Given the description of an element on the screen output the (x, y) to click on. 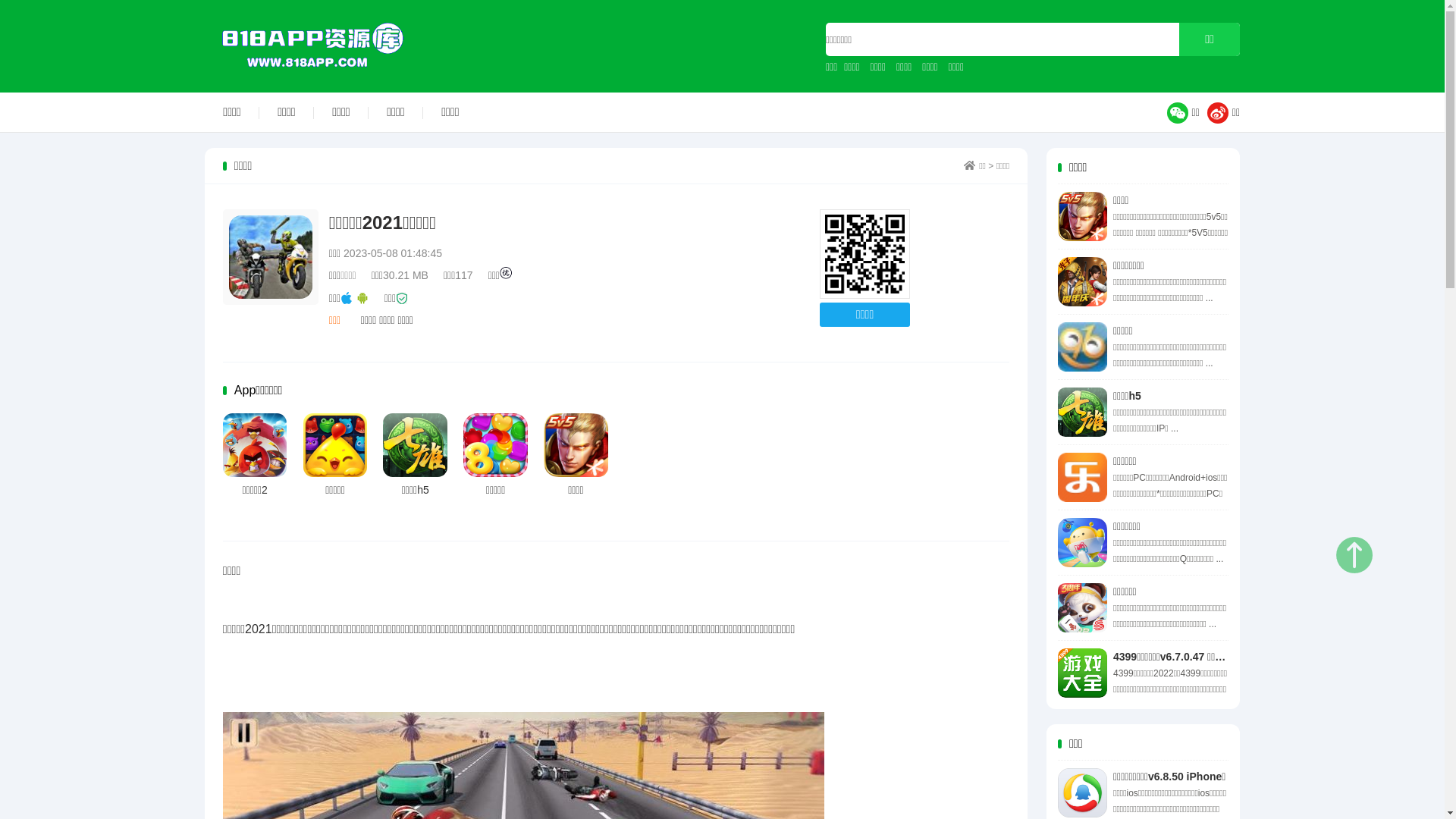
http://www.818app.com Element type: hover (864, 254)
